Given the description of an element on the screen output the (x, y) to click on. 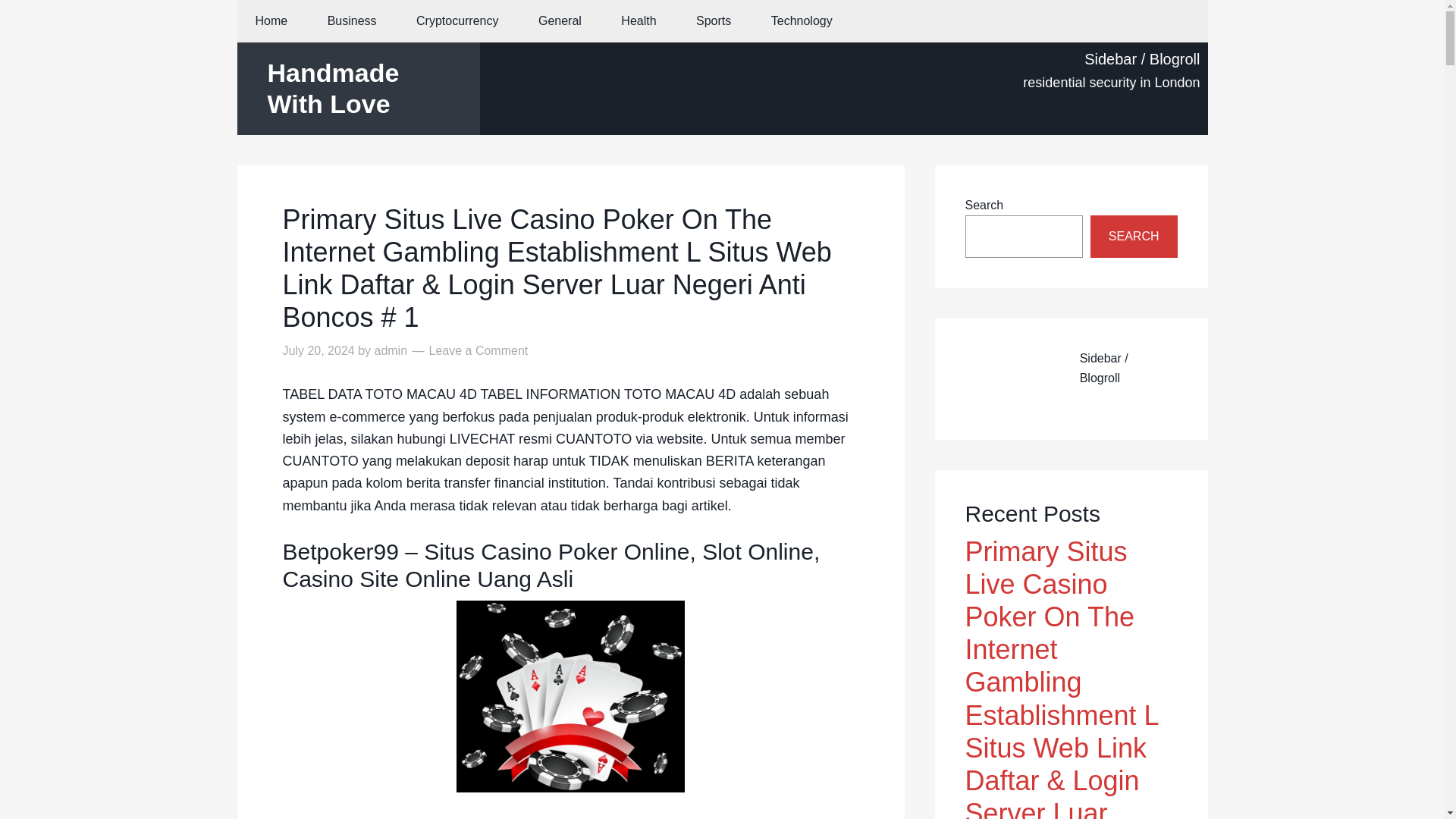
Health (638, 21)
Sports (713, 21)
Handmade With Love (332, 87)
residential security in London (1111, 82)
Business (351, 21)
General (559, 21)
admin (390, 350)
Home (270, 21)
Leave a Comment (478, 350)
Cryptocurrency (456, 21)
Technology (801, 21)
